Given the description of an element on the screen output the (x, y) to click on. 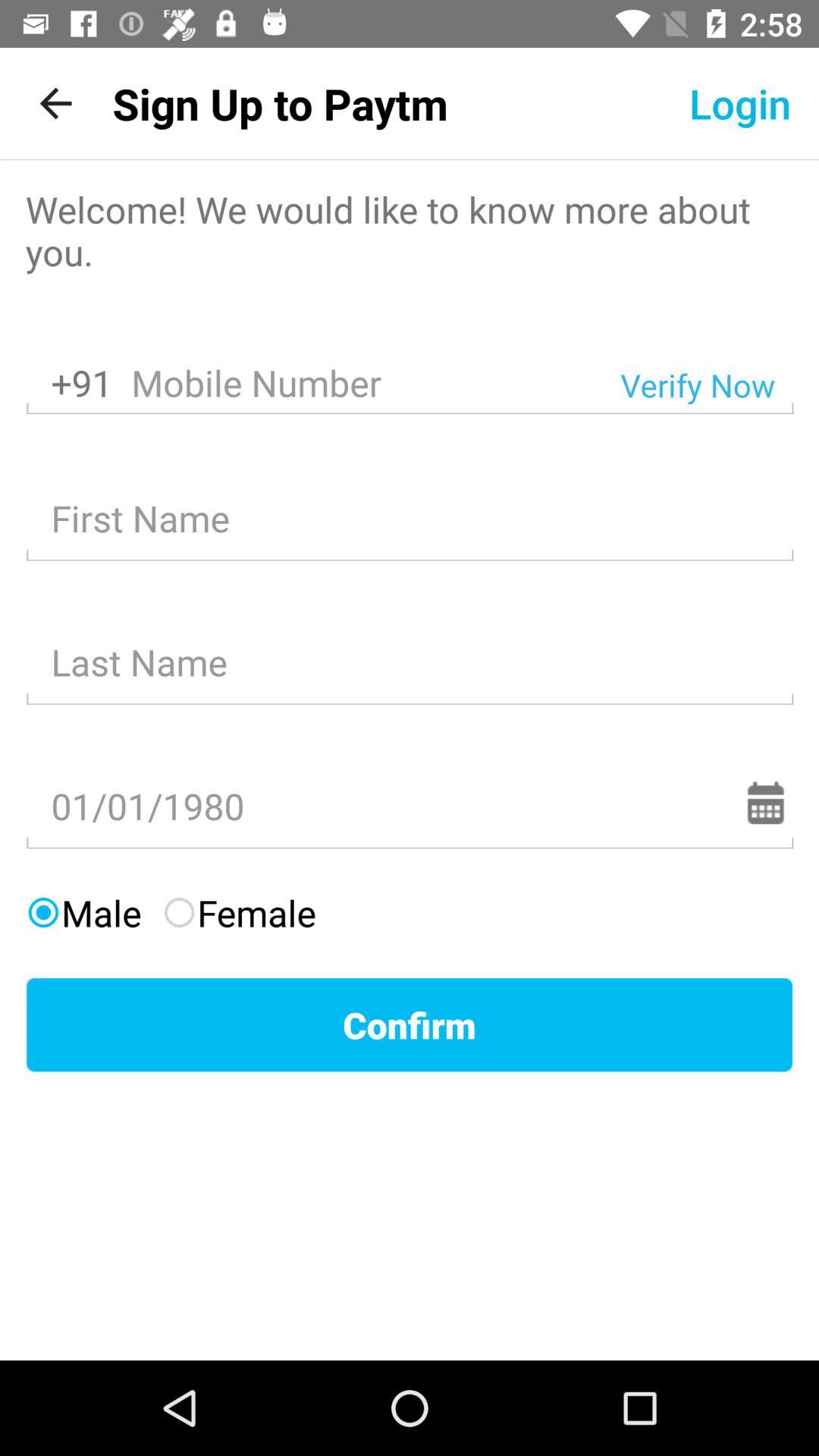
select the icon next to the +91 icon (367, 384)
